Given the description of an element on the screen output the (x, y) to click on. 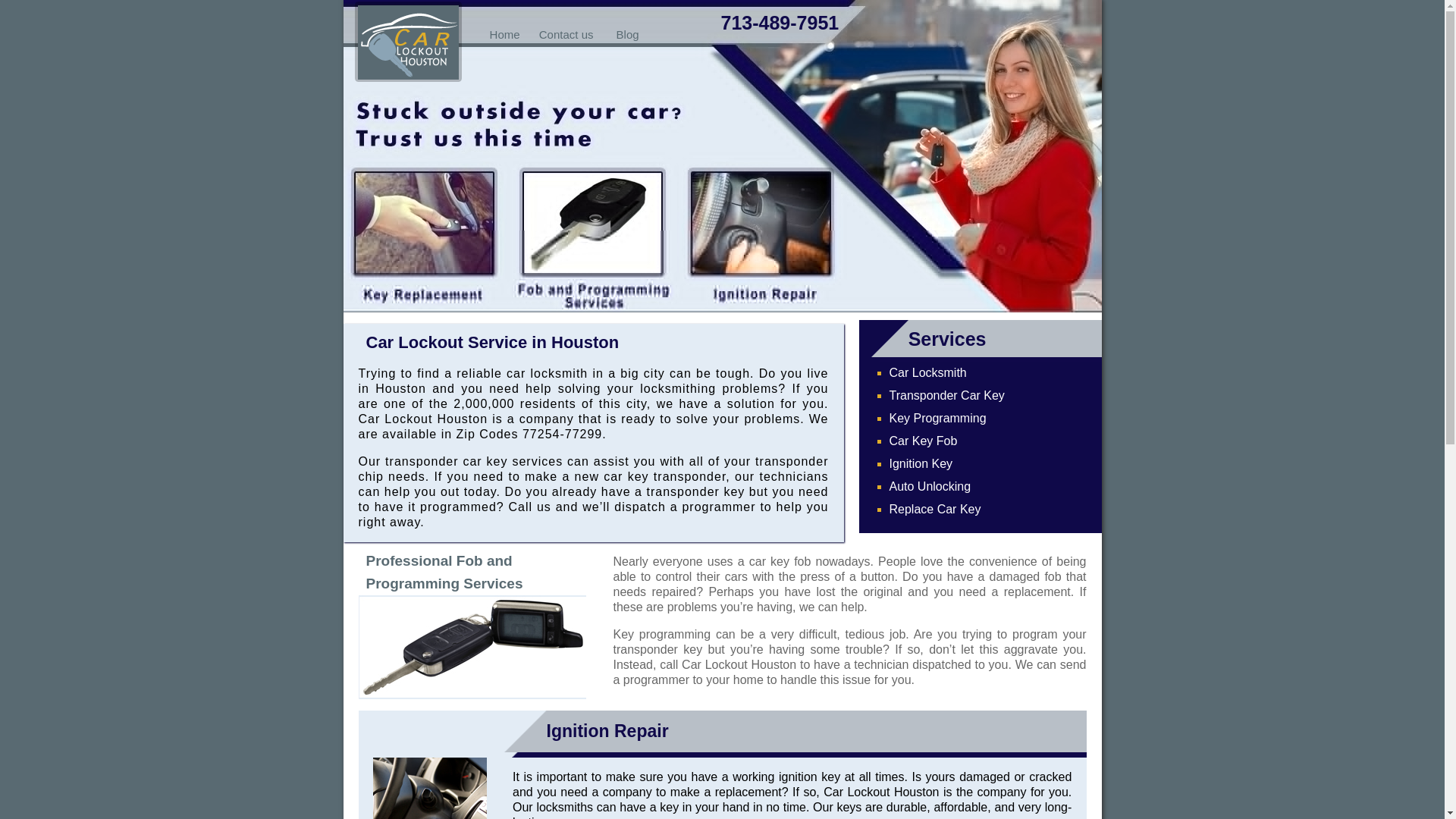
Blog (627, 33)
Auto Unlocking (929, 486)
Car Key Fob (922, 440)
Replace Car Key (933, 508)
Contact us (566, 33)
713-489-7951 (779, 22)
Key Programming (936, 418)
Car Locksmith (927, 372)
Ignition Key (920, 463)
Transponder Car Key (946, 395)
